Given the description of an element on the screen output the (x, y) to click on. 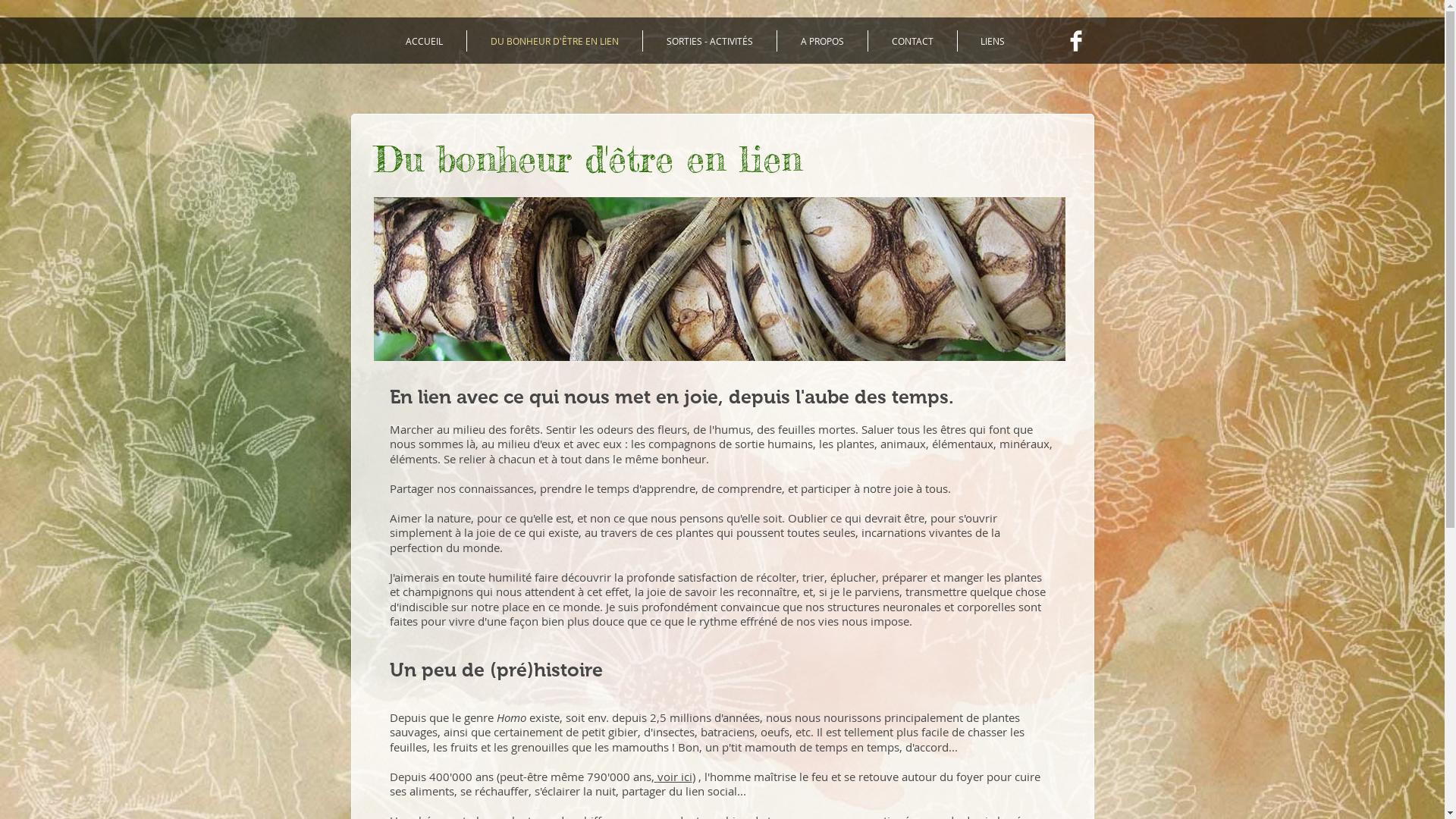
LIENS Element type: text (992, 40)
CONTACT Element type: text (911, 40)
A PROPOS Element type: text (821, 40)
ACCUEIL Element type: text (424, 40)
voir ici Element type: text (673, 776)
